Given the description of an element on the screen output the (x, y) to click on. 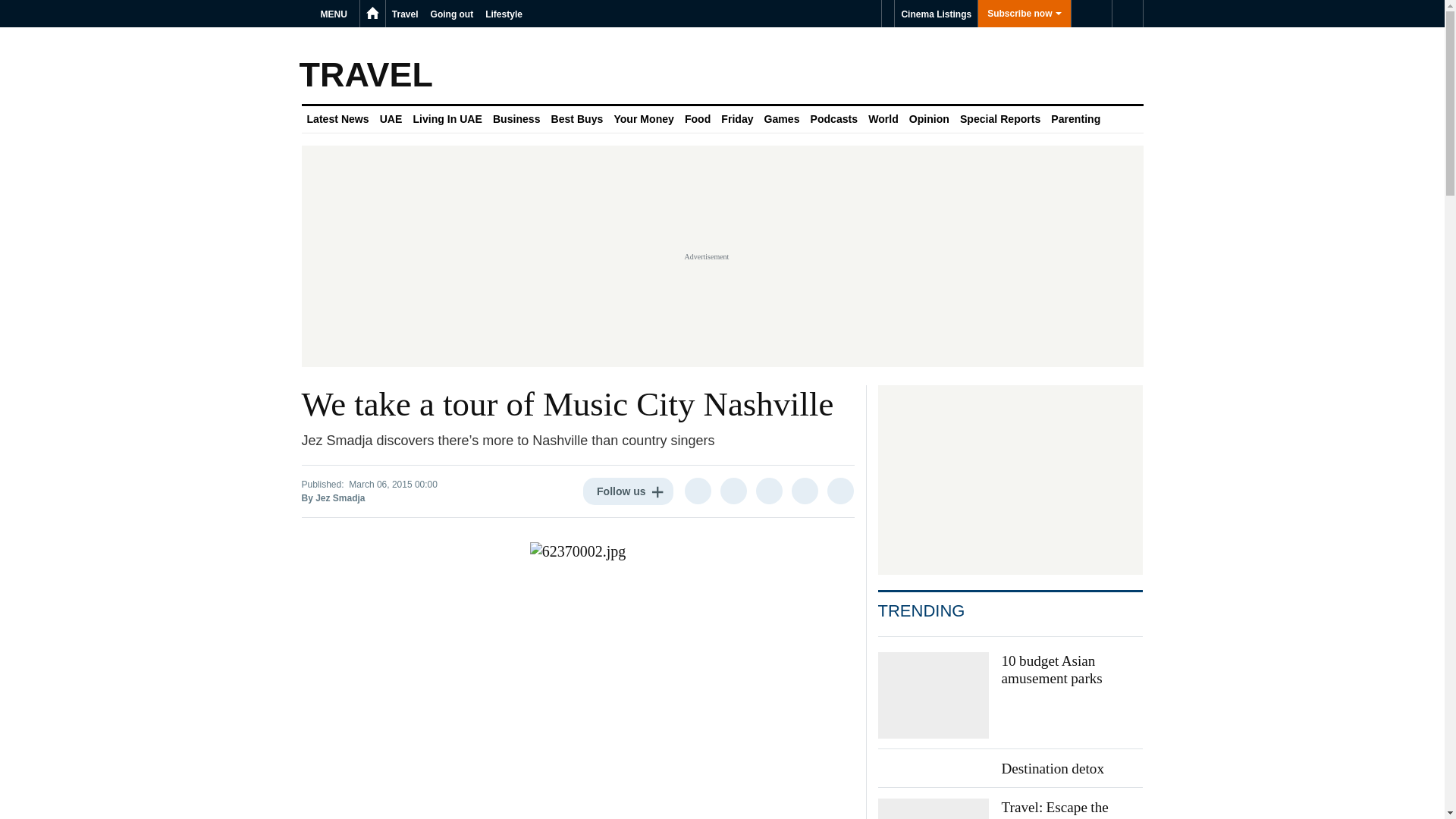
Going out (452, 13)
Subscribe now (1024, 13)
MENU (336, 13)
Travel (405, 13)
Cinema Listings (935, 13)
Lifestyle (503, 13)
